Given the description of an element on the screen output the (x, y) to click on. 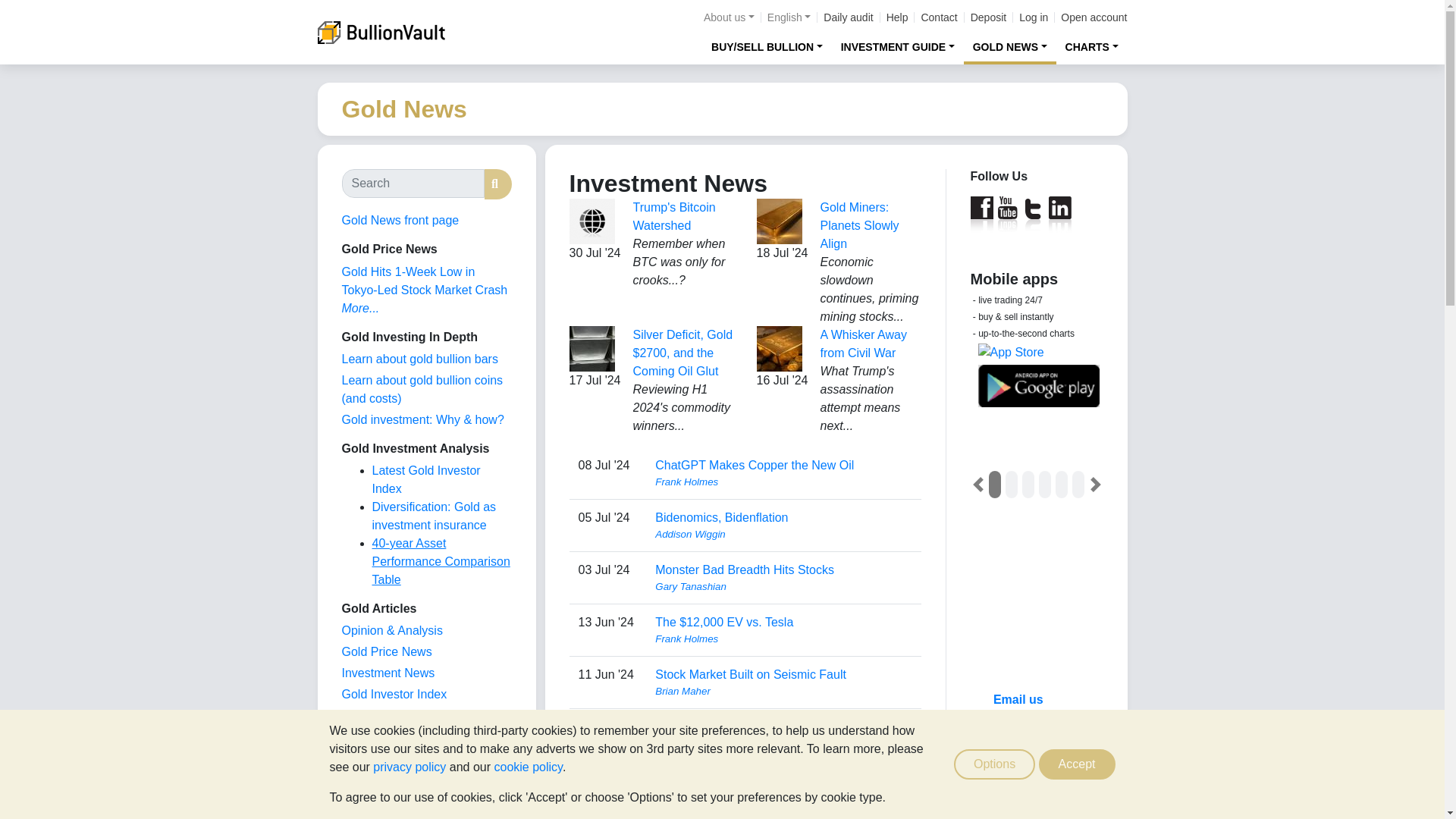
Daily audit (848, 17)
View user profile. (783, 795)
View user profile. (783, 639)
Open account (1093, 17)
Gold Infographics (387, 715)
Market Fundamentals (399, 736)
View user profile. (783, 691)
Gold Price News (385, 651)
cookie policy (528, 766)
Contact (938, 17)
